Given the description of an element on the screen output the (x, y) to click on. 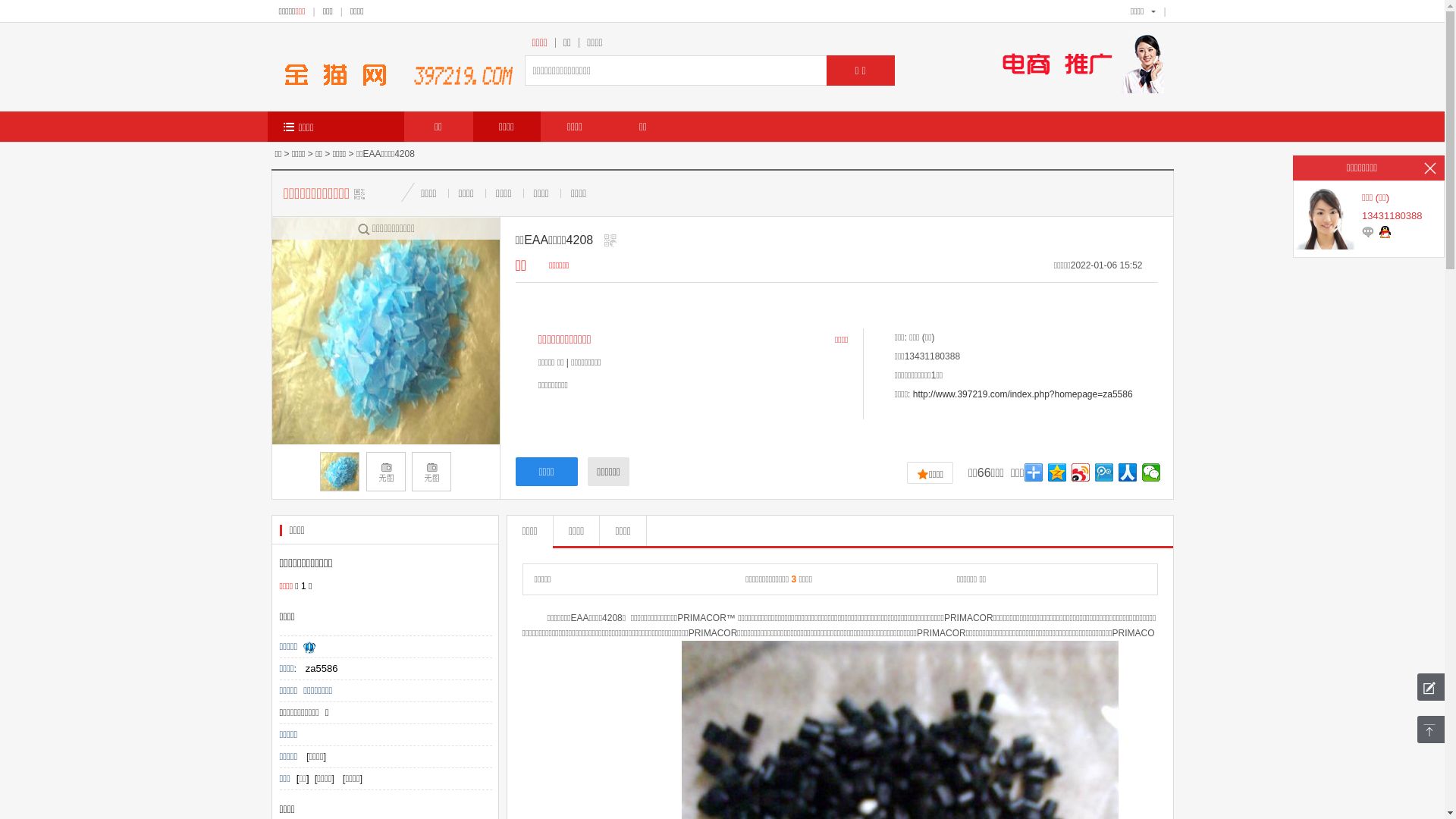
http://www.397219.com/index.php?homepage=za5586 Element type: text (1022, 394)
